Given the description of an element on the screen output the (x, y) to click on. 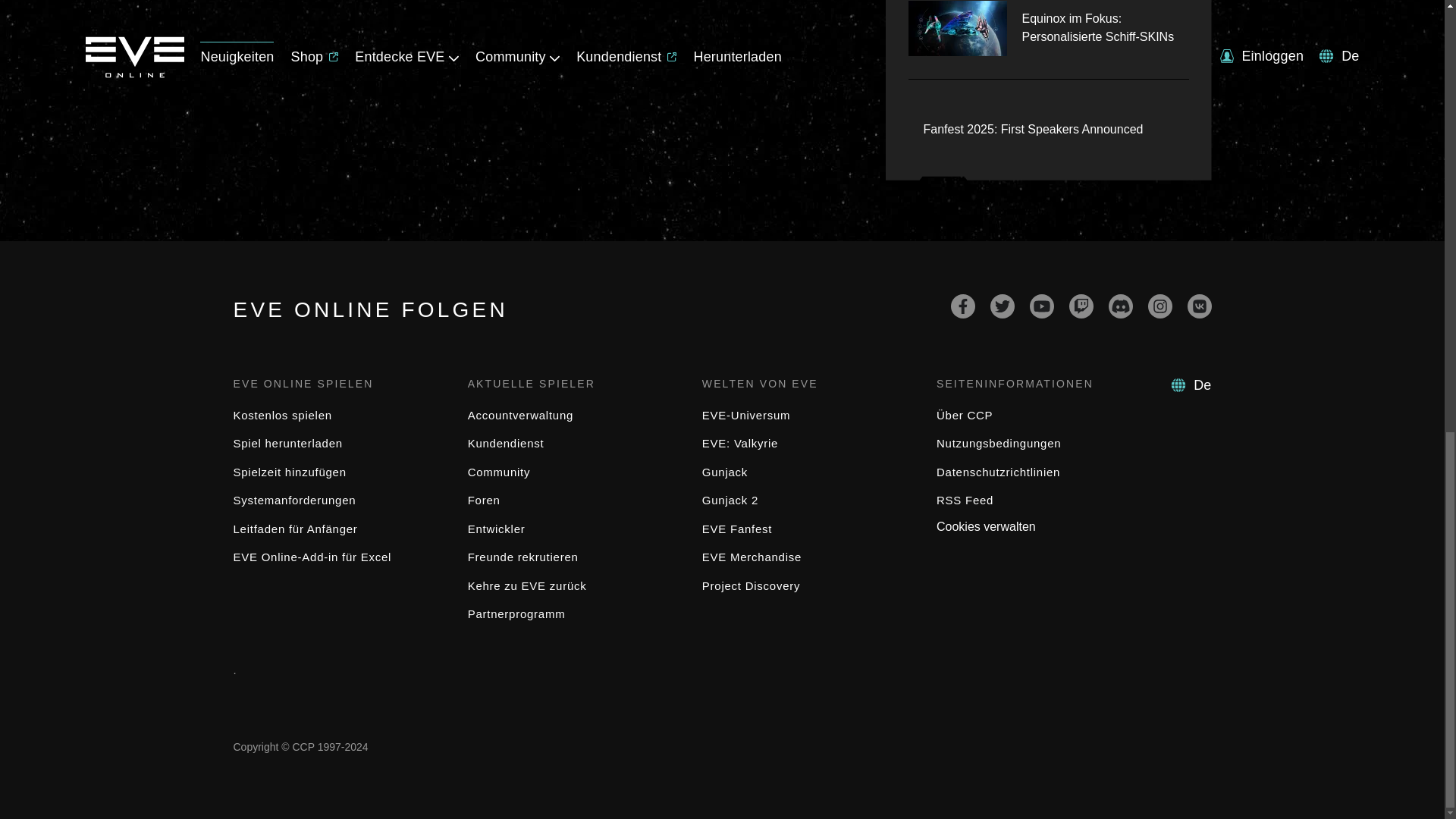
Twitter (1002, 306)
Discord (1120, 306)
YouTube (1041, 306)
Instagram (1160, 306)
VK (1199, 306)
Twitch (1080, 306)
Facebook (962, 306)
